Given the description of an element on the screen output the (x, y) to click on. 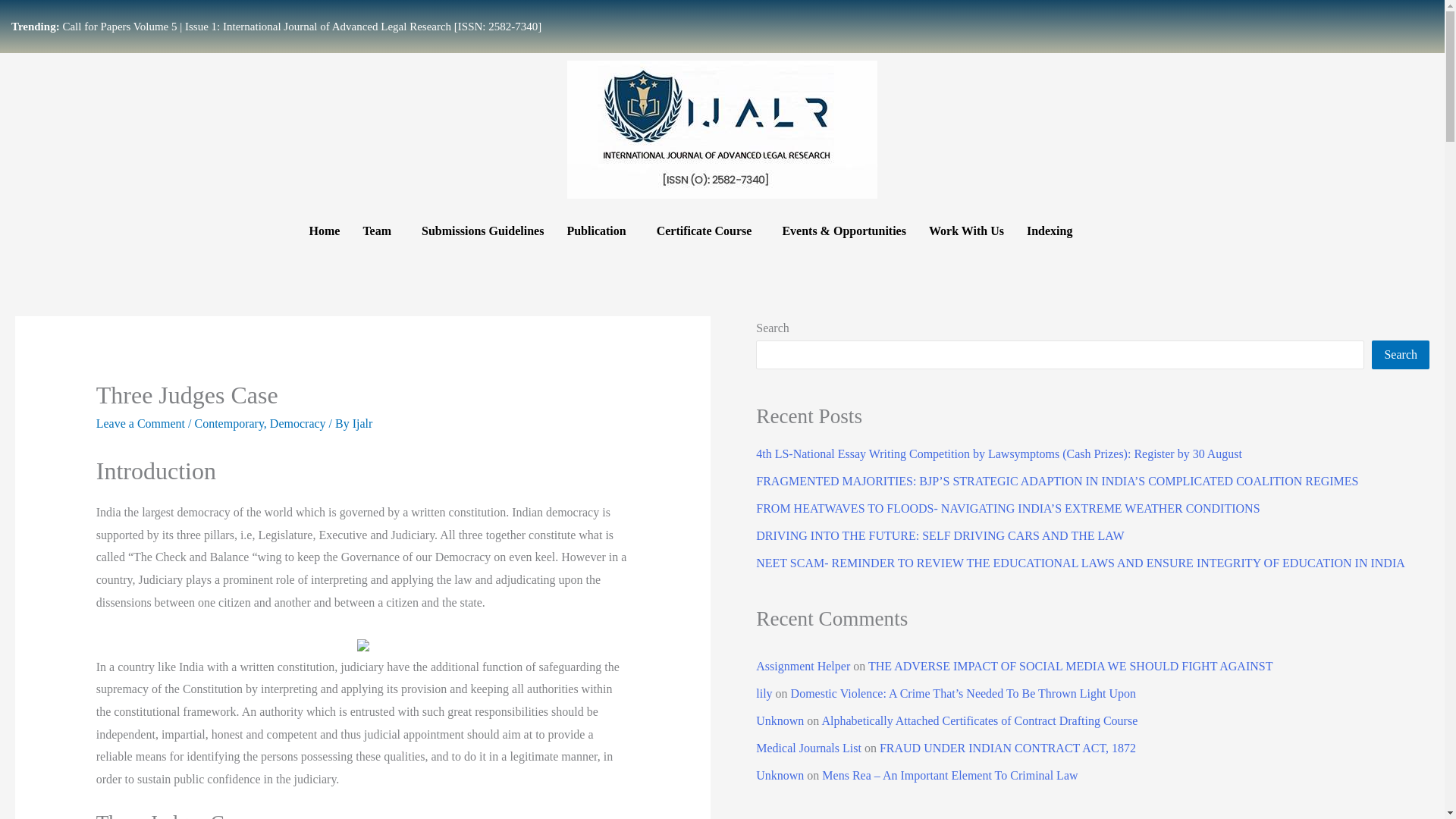
Certificate Course (708, 230)
Submissions Guidelines (482, 230)
Team (380, 230)
Publication (599, 230)
View all posts by Ijalr (362, 422)
Home (323, 230)
